Given the description of an element on the screen output the (x, y) to click on. 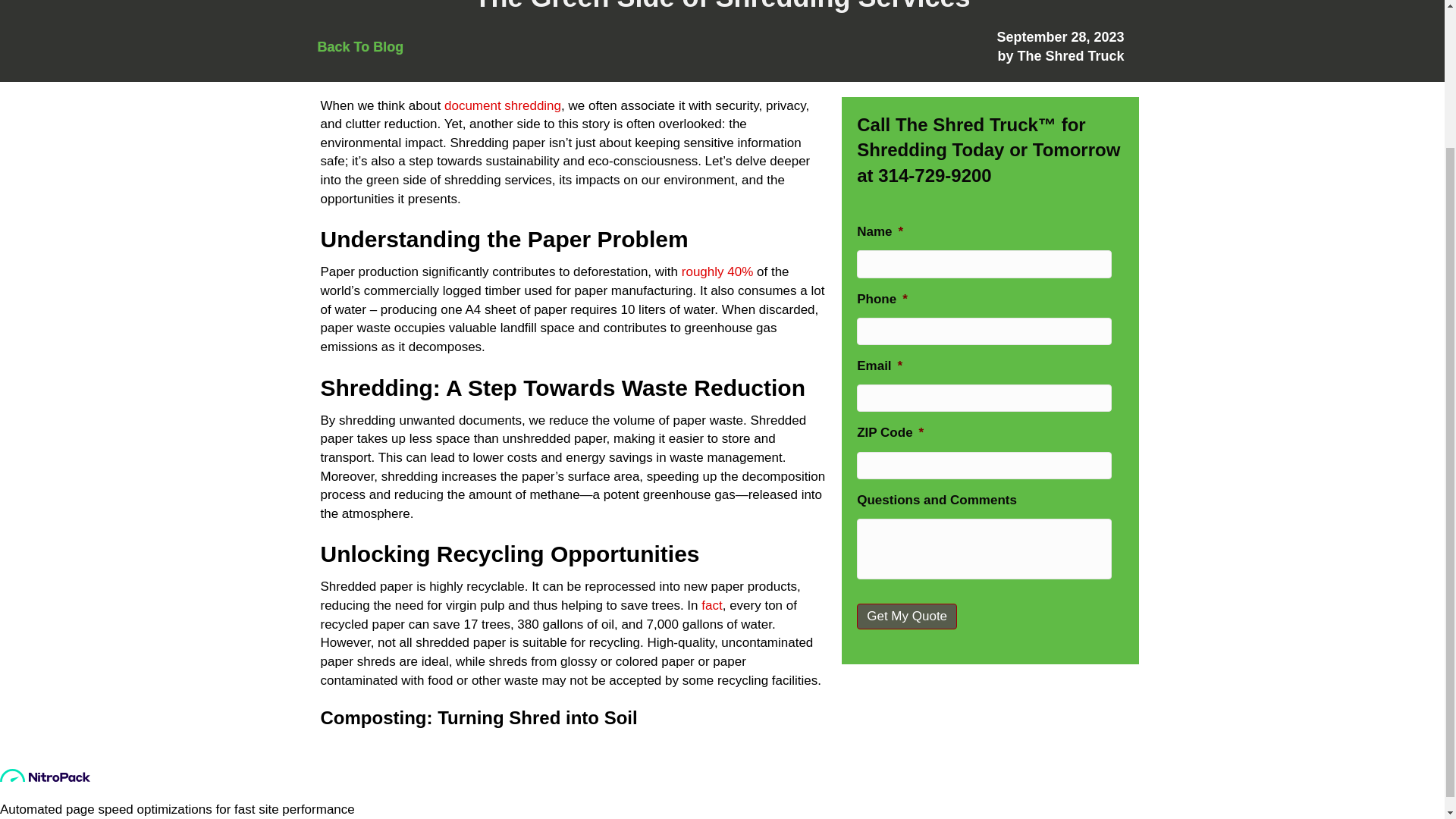
Get My Quote (906, 616)
